Given the description of an element on the screen output the (x, y) to click on. 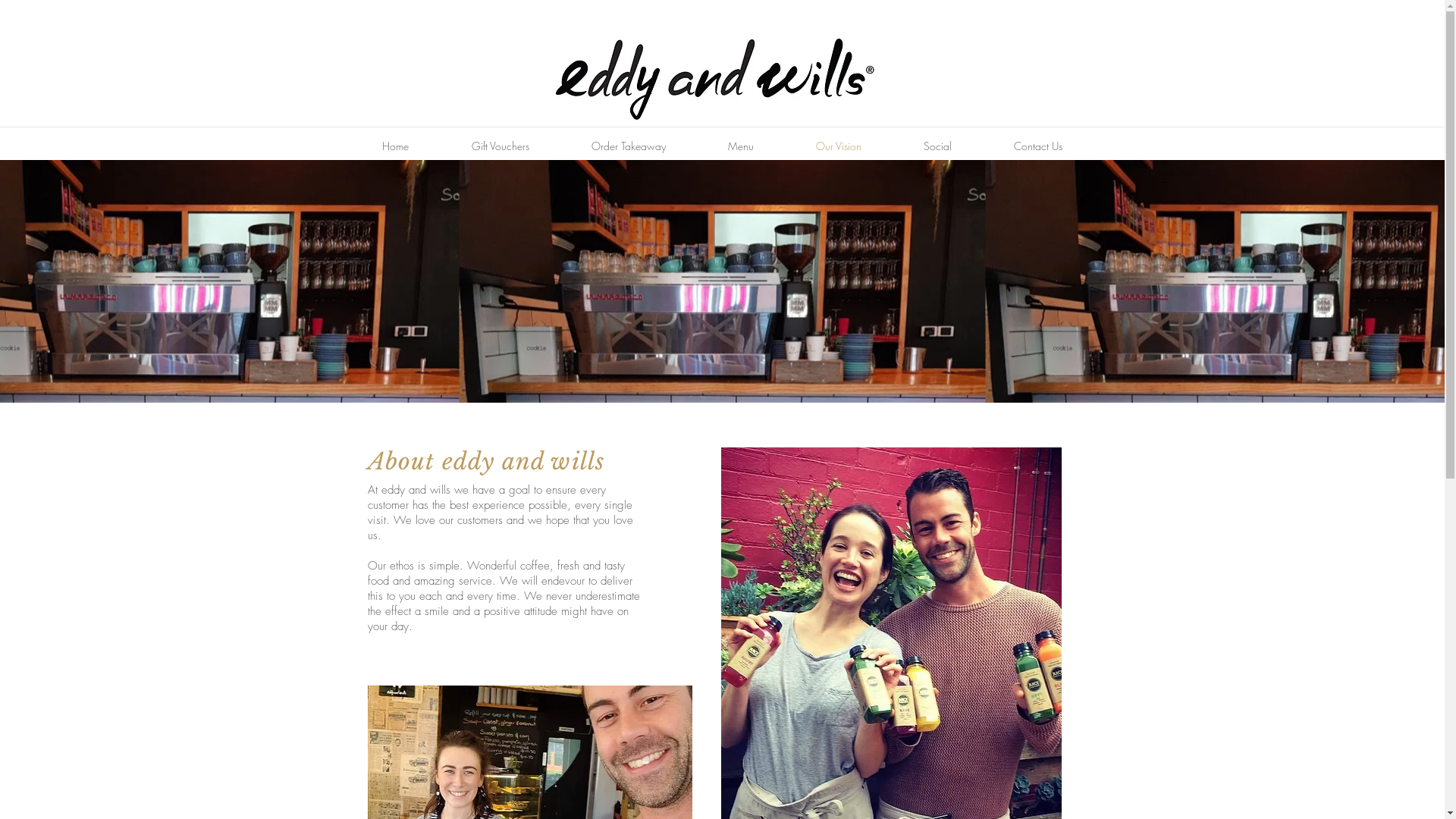
Gift Vouchers Element type: text (499, 146)
Social Element type: text (936, 146)
Home Element type: text (394, 146)
Order Takeaway Element type: text (627, 146)
Our Vision Element type: text (837, 146)
Contact Us Element type: text (1037, 146)
Menu Element type: text (740, 146)
